Given the description of an element on the screen output the (x, y) to click on. 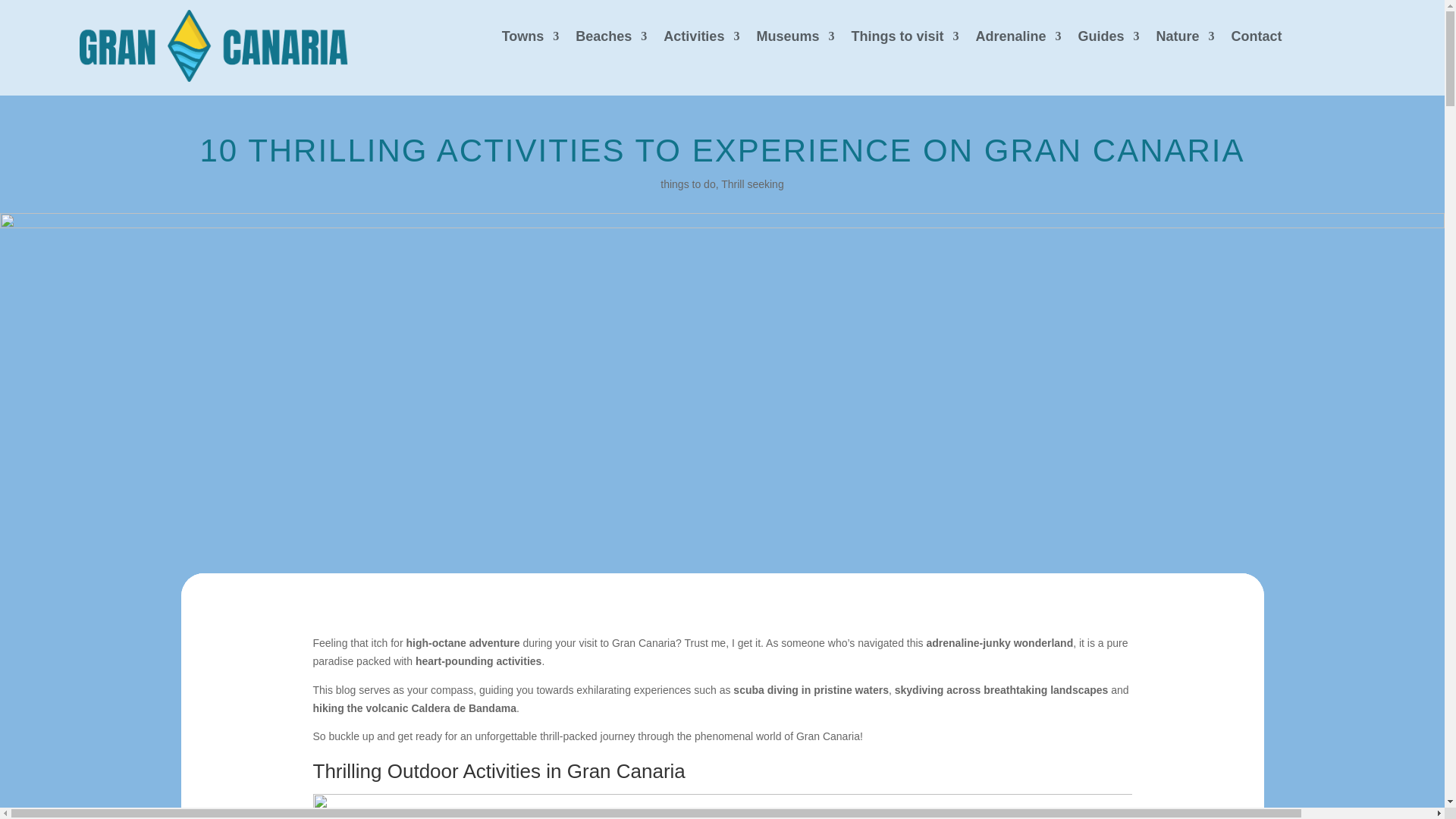
Towns (530, 39)
gran-canaria-logo (213, 45)
Beaches (610, 39)
